Given the description of an element on the screen output the (x, y) to click on. 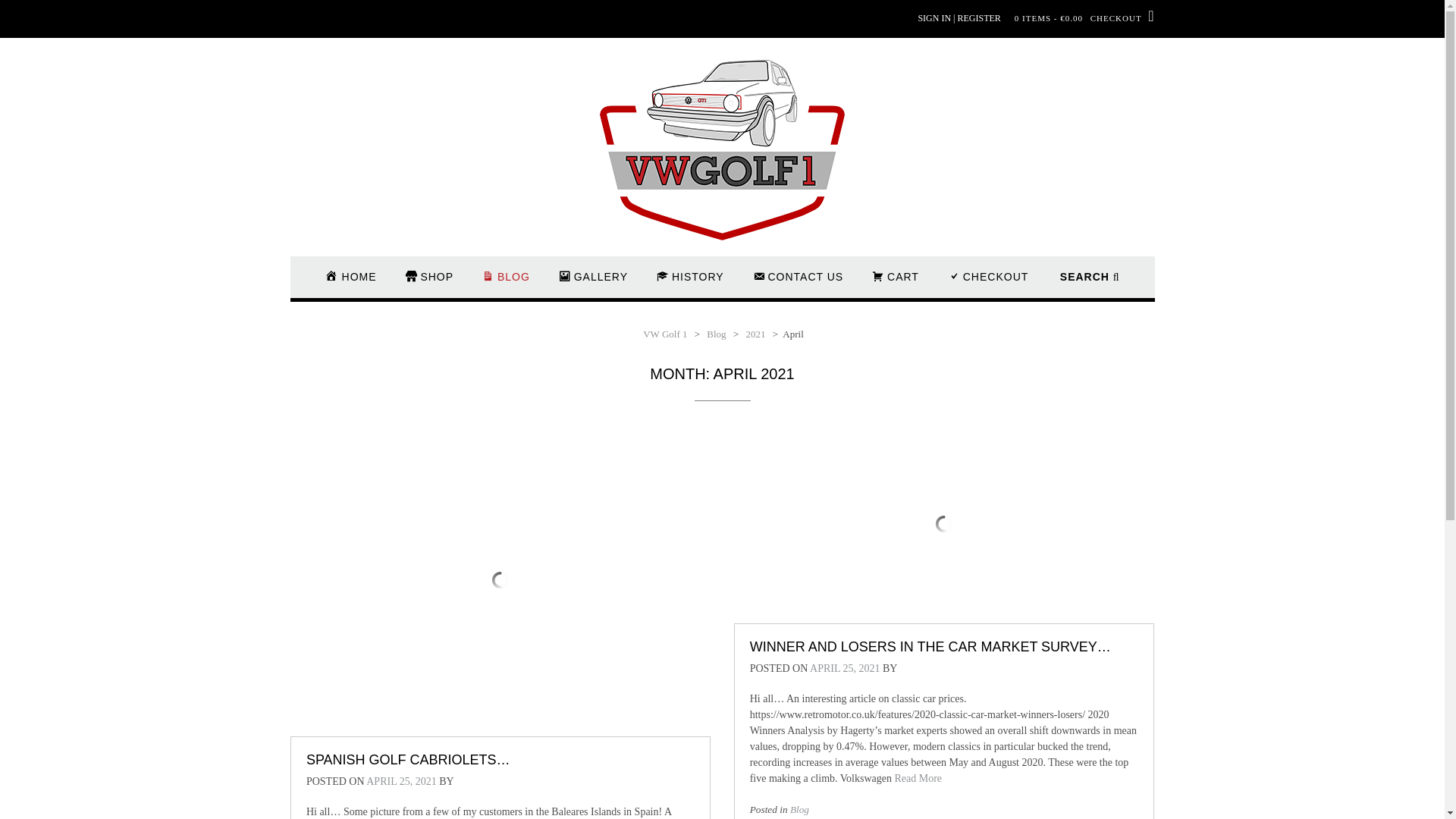
CART (895, 284)
2021 (755, 333)
APRIL 25, 2021 (400, 781)
GALLERY (593, 284)
SEARCH (1089, 284)
Blog (715, 333)
CHECKOUT (987, 284)
Read More (917, 778)
Go to Blog. (715, 333)
HISTORY (689, 284)
VW Golf 1 (665, 333)
Blog (799, 808)
SHOP (430, 284)
Read More (917, 778)
APRIL 25, 2021 (844, 668)
